Given the description of an element on the screen output the (x, y) to click on. 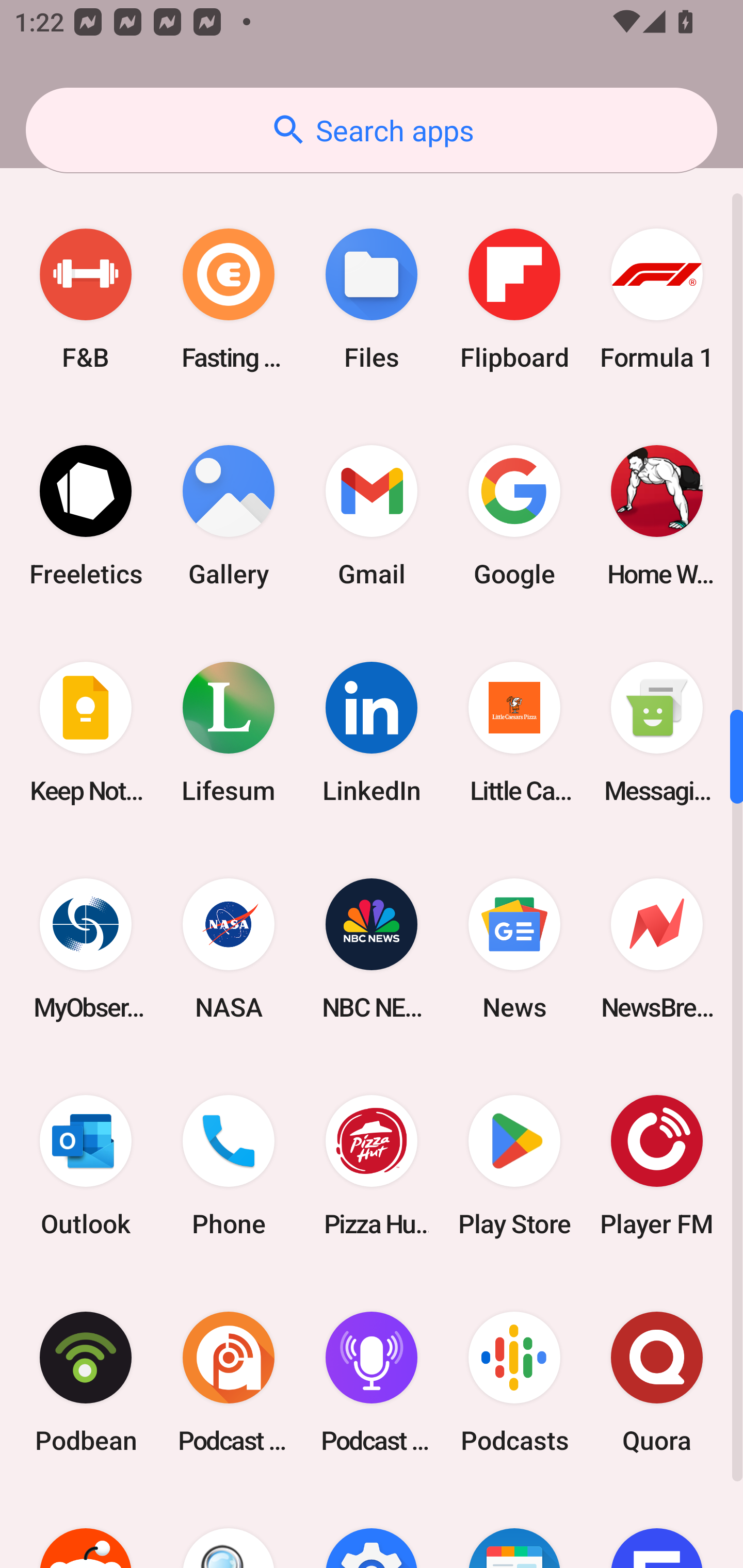
  Search apps (371, 130)
F&B (85, 299)
Fasting Coach (228, 299)
Files (371, 299)
Flipboard (514, 299)
Formula 1 (656, 299)
Freeletics (85, 515)
Gallery (228, 515)
Gmail (371, 515)
Google (514, 515)
Home Workout (656, 515)
Keep Notes (85, 732)
Lifesum (228, 732)
LinkedIn (371, 732)
Little Caesars Pizza (514, 732)
Messaging (656, 732)
MyObservatory (85, 948)
NASA (228, 948)
NBC NEWS (371, 948)
News (514, 948)
NewsBreak (656, 948)
Outlook (85, 1164)
Phone (228, 1164)
Pizza Hut HK & Macau (371, 1164)
Play Store (514, 1164)
Player FM (656, 1164)
Podbean (85, 1382)
Podcast Addict (228, 1382)
Podcast Player (371, 1382)
Podcasts (514, 1382)
Quora (656, 1382)
